Given the description of an element on the screen output the (x, y) to click on. 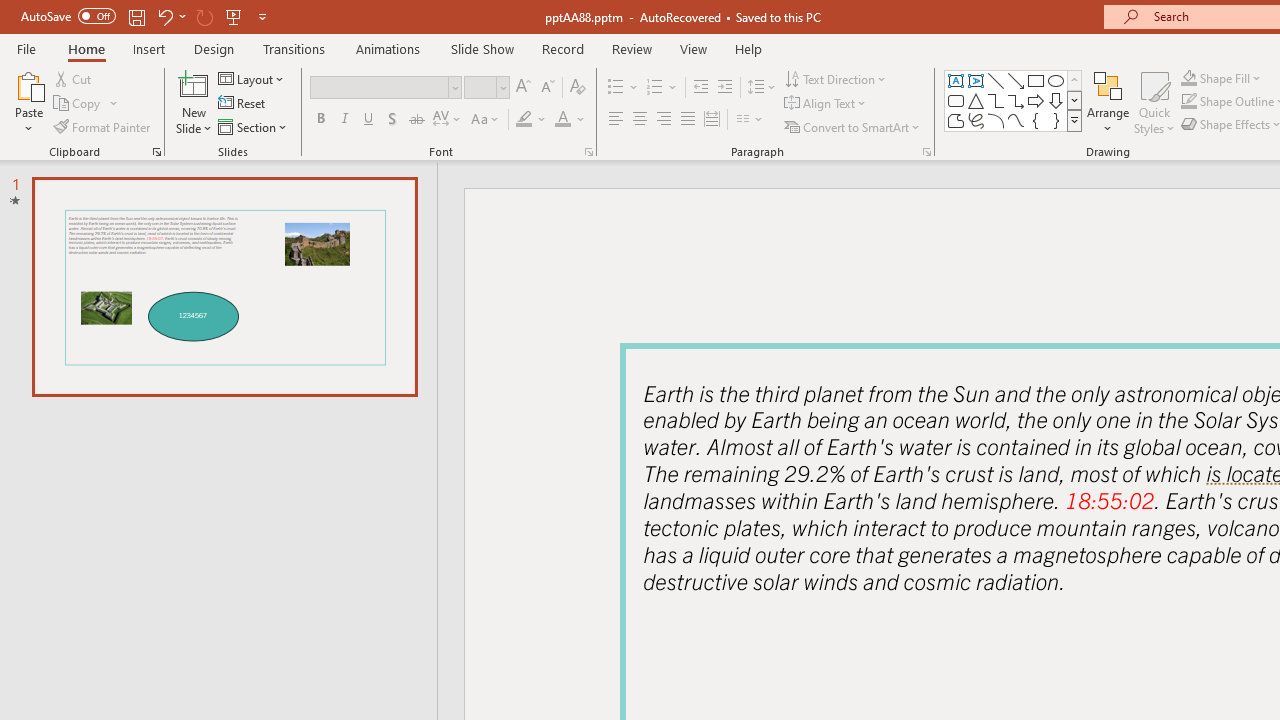
Shape Fill Aqua, Accent 2 (1188, 78)
